Given the description of an element on the screen output the (x, y) to click on. 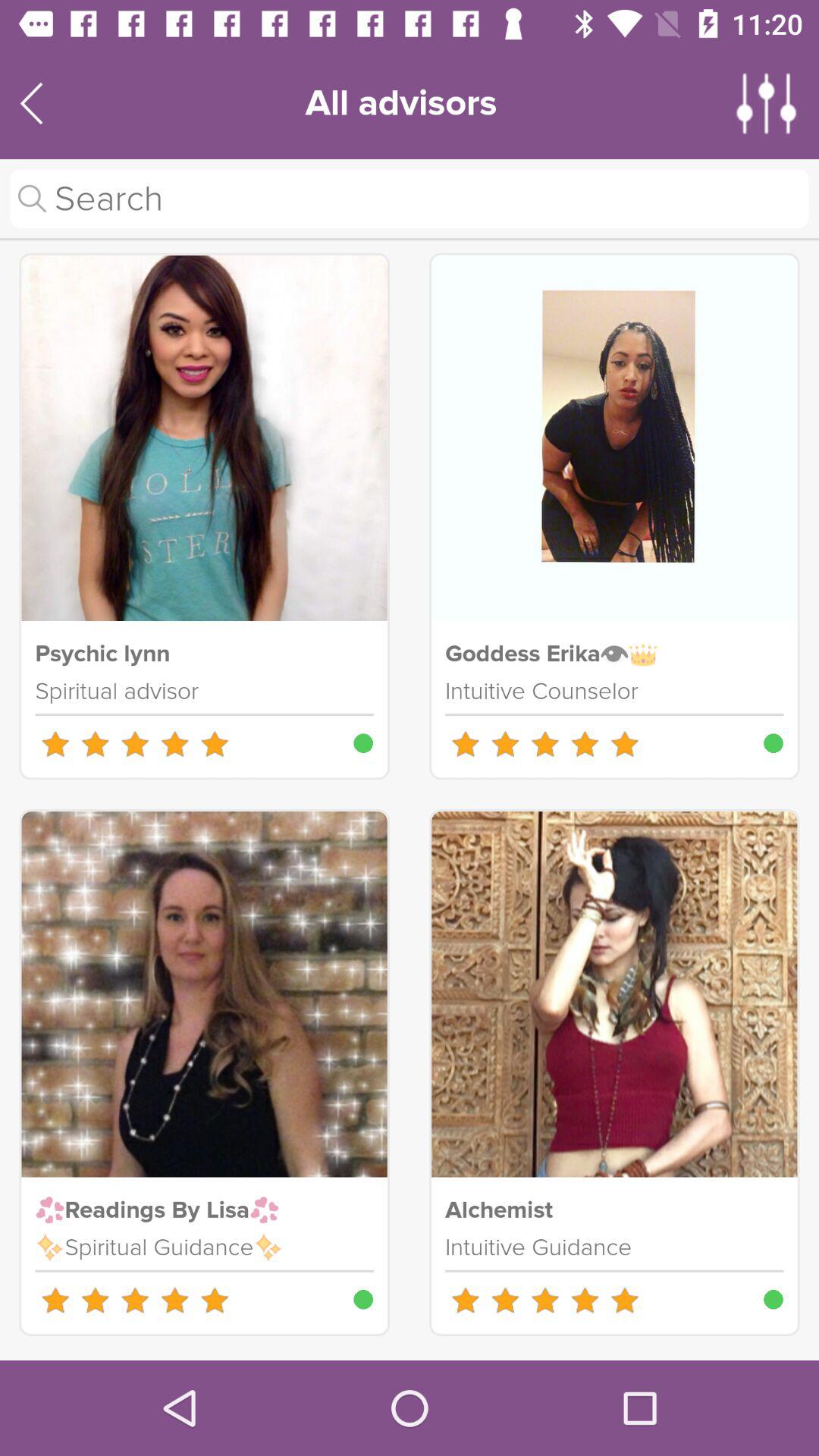
search tool (409, 198)
